Given the description of an element on the screen output the (x, y) to click on. 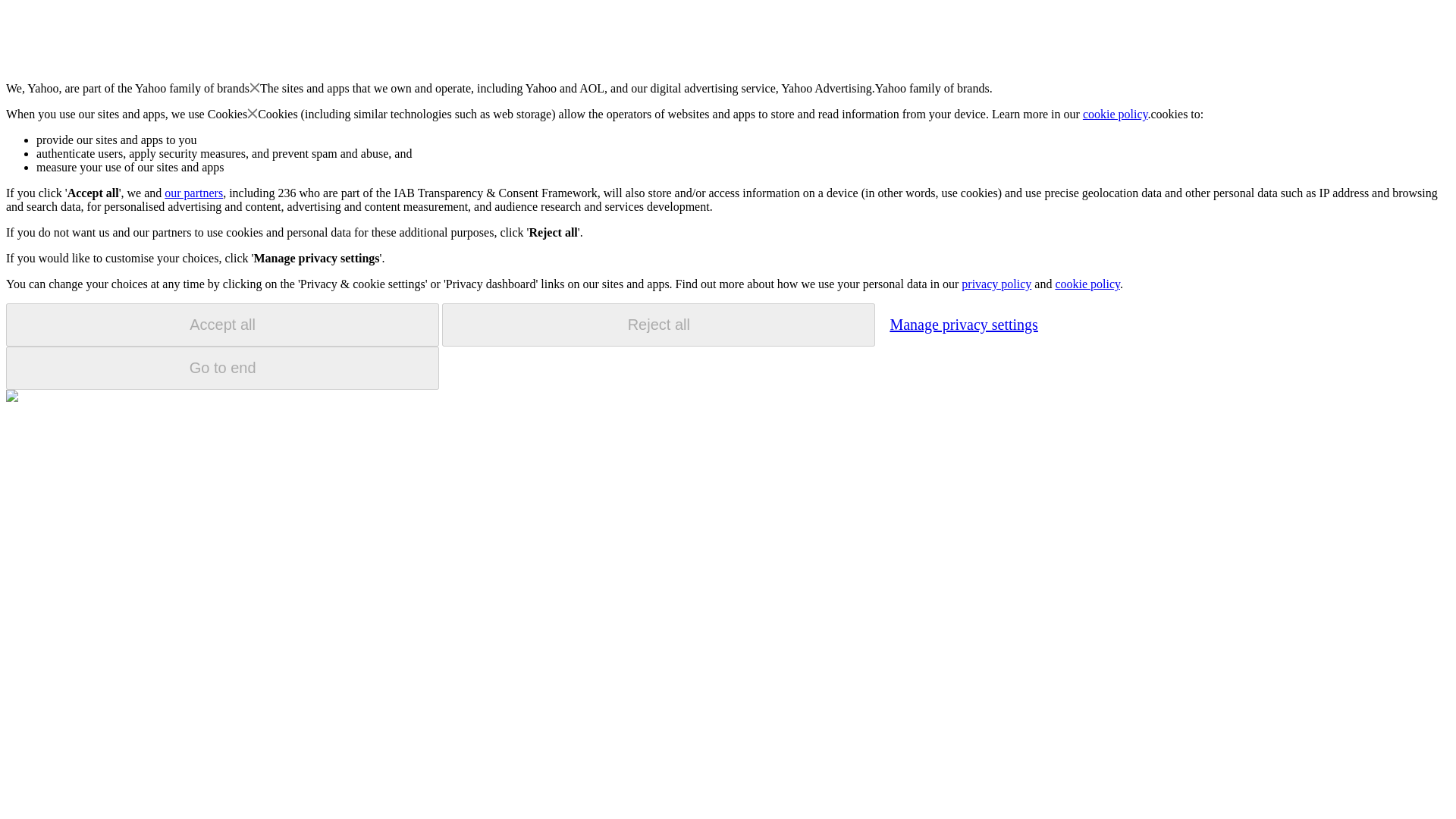
privacy policy (995, 283)
cookie policy (1115, 113)
our partners (193, 192)
Manage privacy settings (963, 323)
Go to end (222, 367)
Accept all (222, 324)
Reject all (658, 324)
cookie policy (1086, 283)
